Given the description of an element on the screen output the (x, y) to click on. 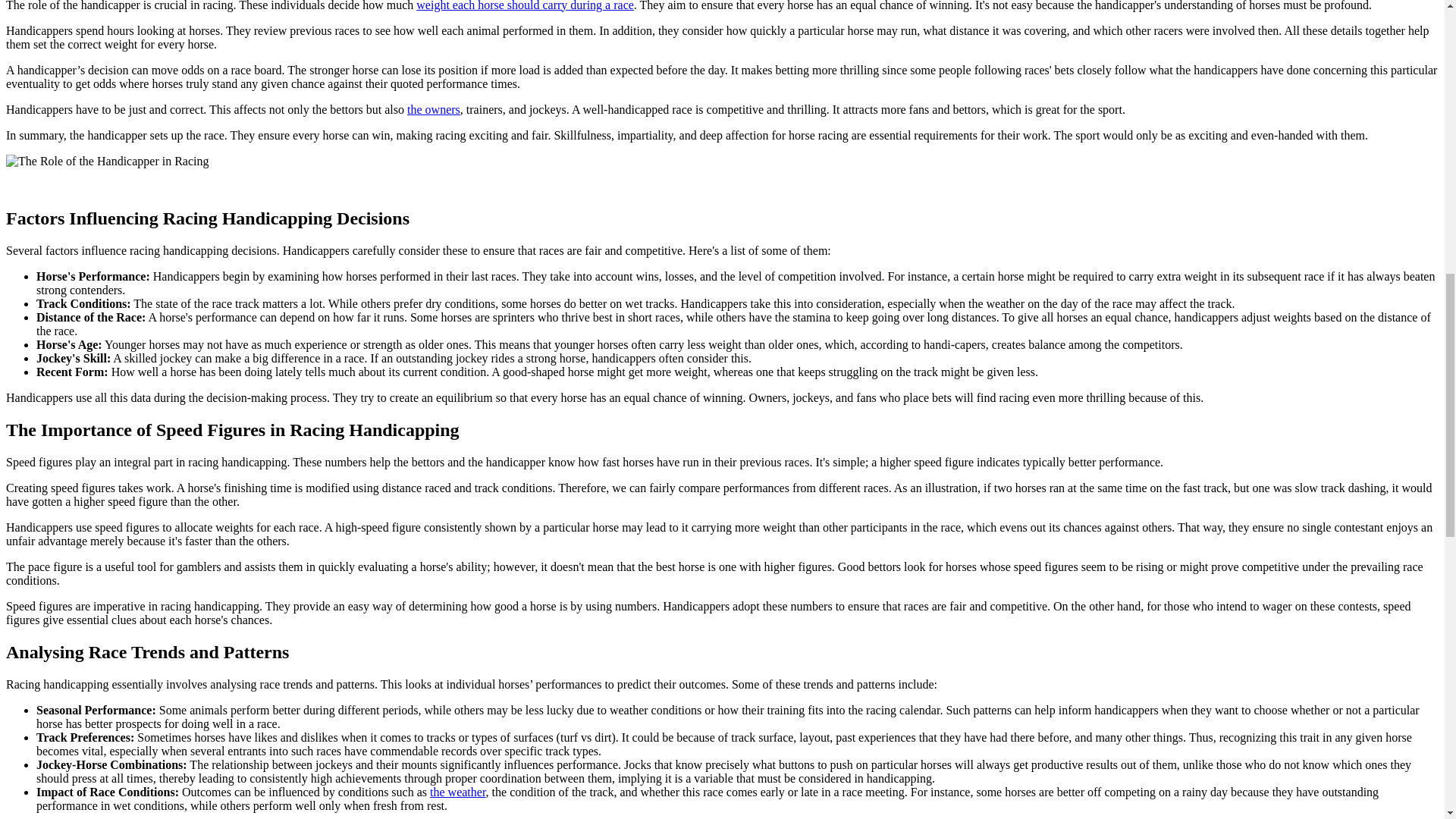
the weather (457, 791)
the owners (433, 109)
weight each horse should carry during a race (524, 5)
